Given the description of an element on the screen output the (x, y) to click on. 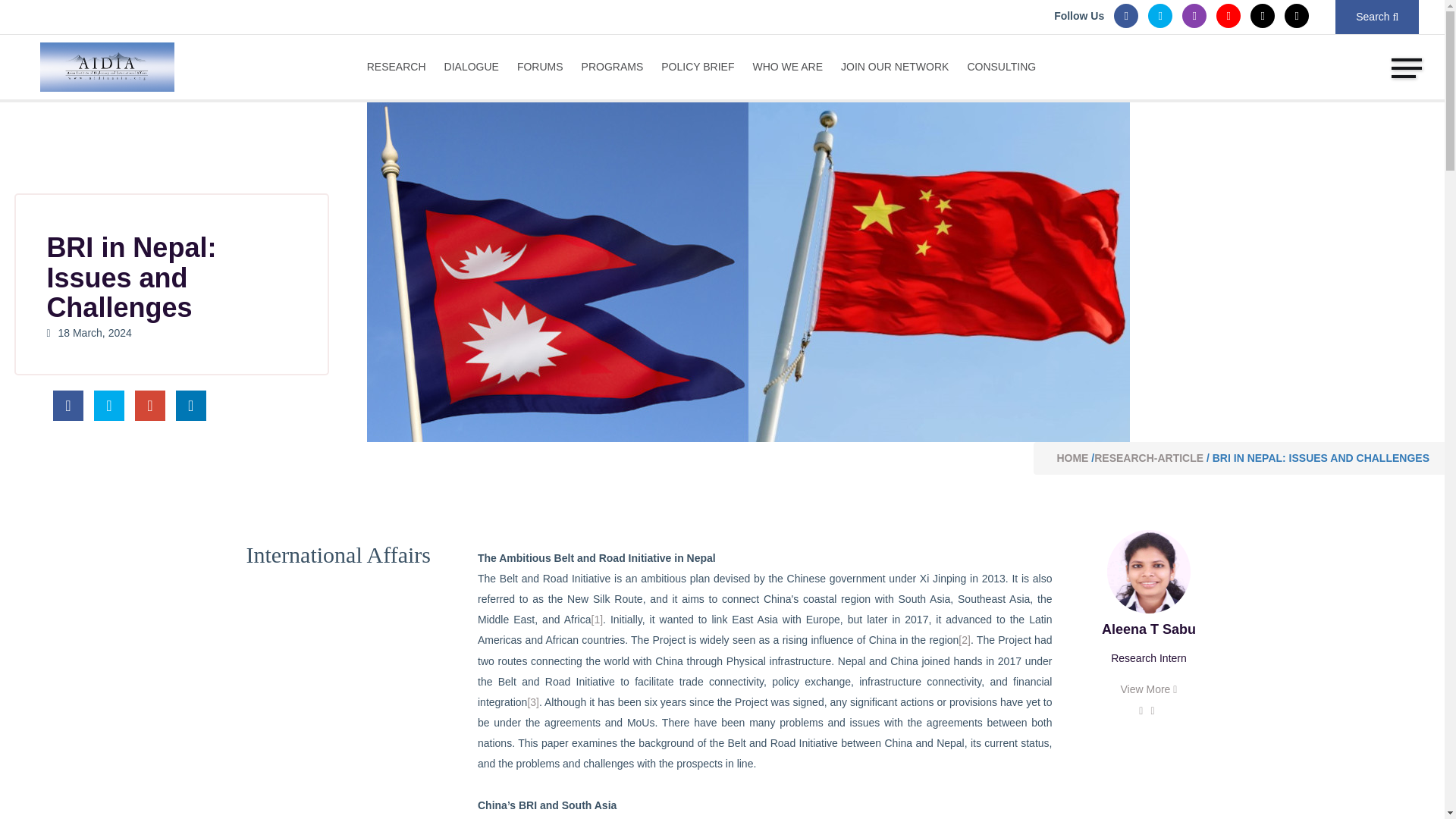
RESEARCH (400, 65)
DIALOGUE (471, 65)
FORUMS (540, 65)
